Given the description of an element on the screen output the (x, y) to click on. 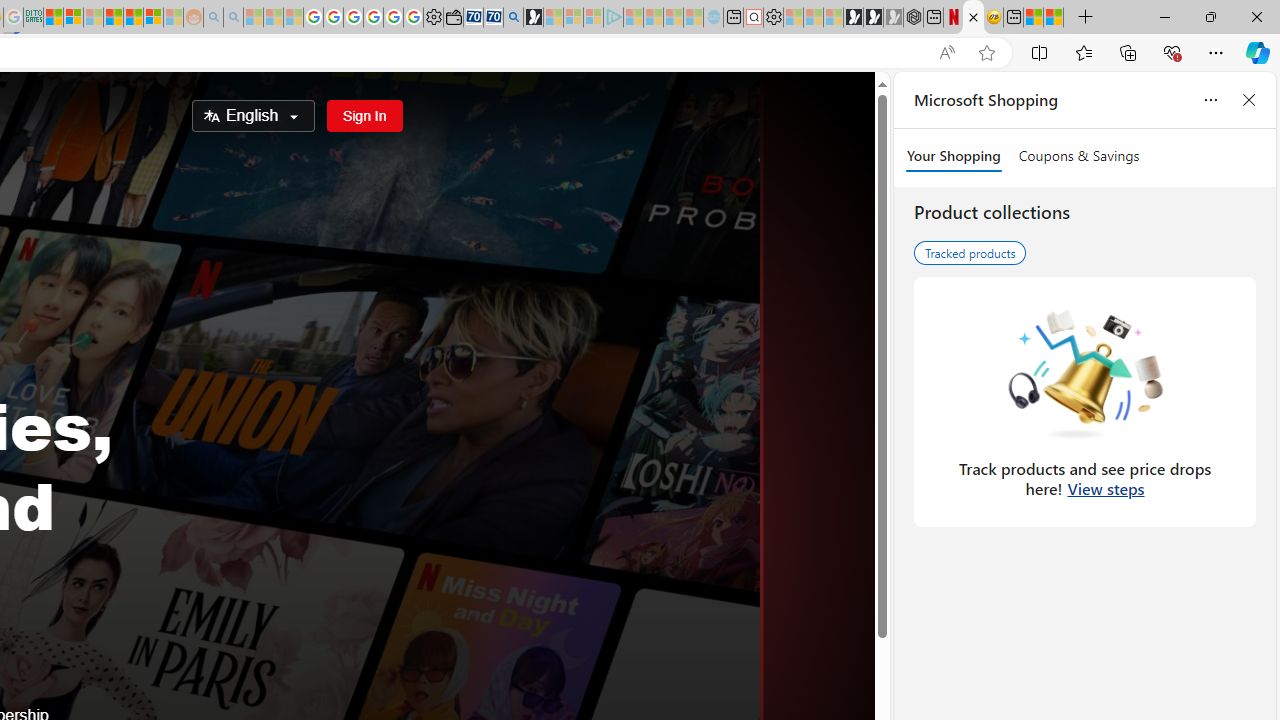
Bing Real Estate - Home sales and rental listings (513, 17)
Wallet (453, 17)
Sign In (364, 115)
